Given the description of an element on the screen output the (x, y) to click on. 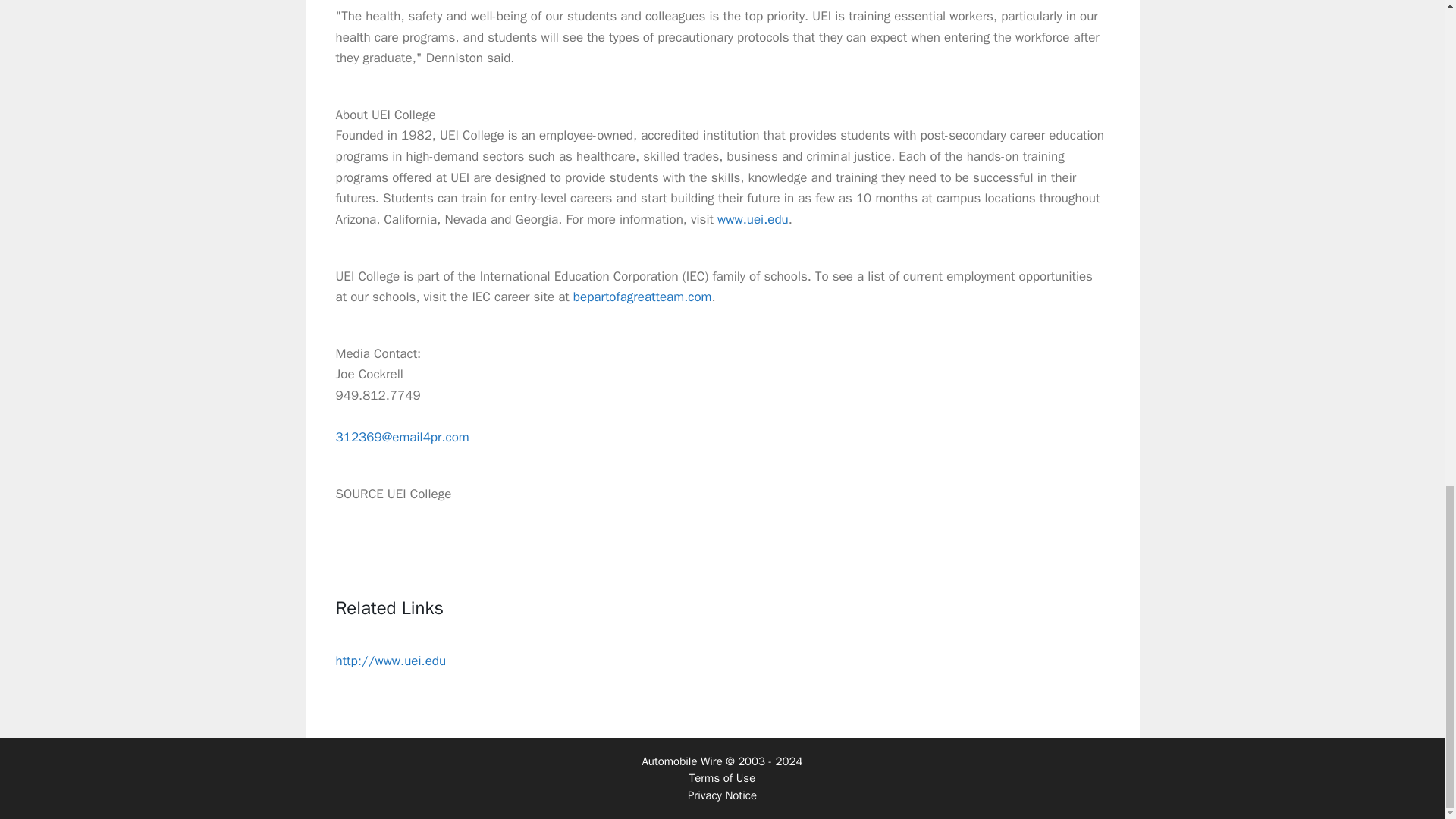
Privacy Notice (722, 795)
Terms of Use (721, 777)
www.uei.edu (753, 219)
bepartofagreatteam.com (642, 296)
